Given the description of an element on the screen output the (x, y) to click on. 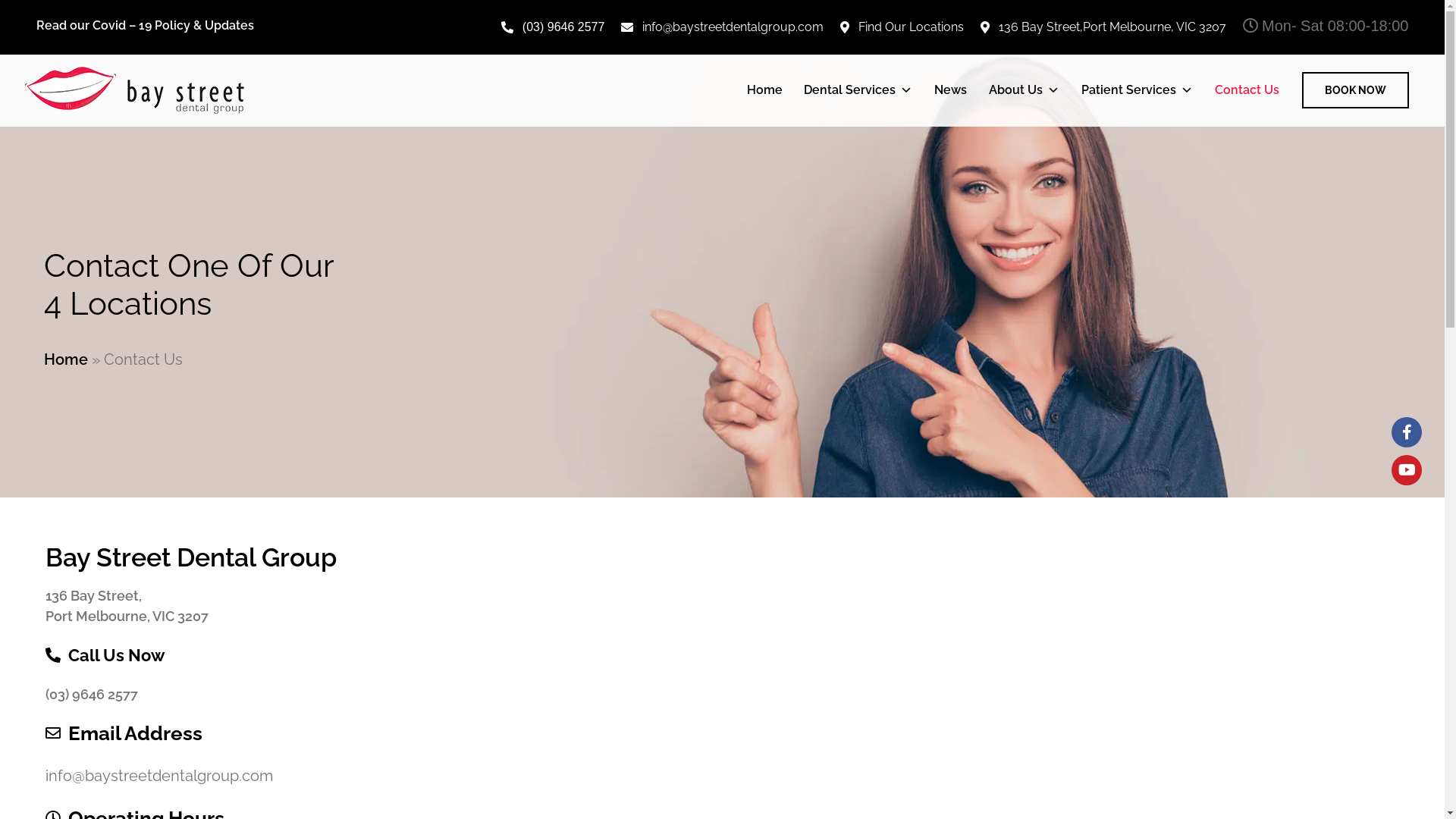
Dental Services Element type: text (857, 90)
Patient Services Element type: text (1136, 90)
Contact Us Element type: text (1246, 90)
info@baystreetdentalgroup.com Element type: text (722, 26)
BOOK NOW Element type: text (1354, 90)
Home Element type: text (65, 359)
info@baystreetdentalgroup.com Element type: text (159, 776)
Facebook Element type: hover (1406, 432)
136 Bay Street,
Port Melbourne, VIC 3207 Element type: text (126, 605)
(03) 9646 2577 Element type: text (91, 694)
About Us Element type: text (1023, 90)
Find Our Locations Element type: text (901, 26)
Youtube Element type: hover (1406, 470)
136 Bay Street,Port Melbourne, VIC 3207 Element type: text (1103, 26)
(03) 9646 2577 Element type: text (553, 26)
Home Element type: text (764, 90)
News Element type: text (950, 90)
